Given the description of an element on the screen output the (x, y) to click on. 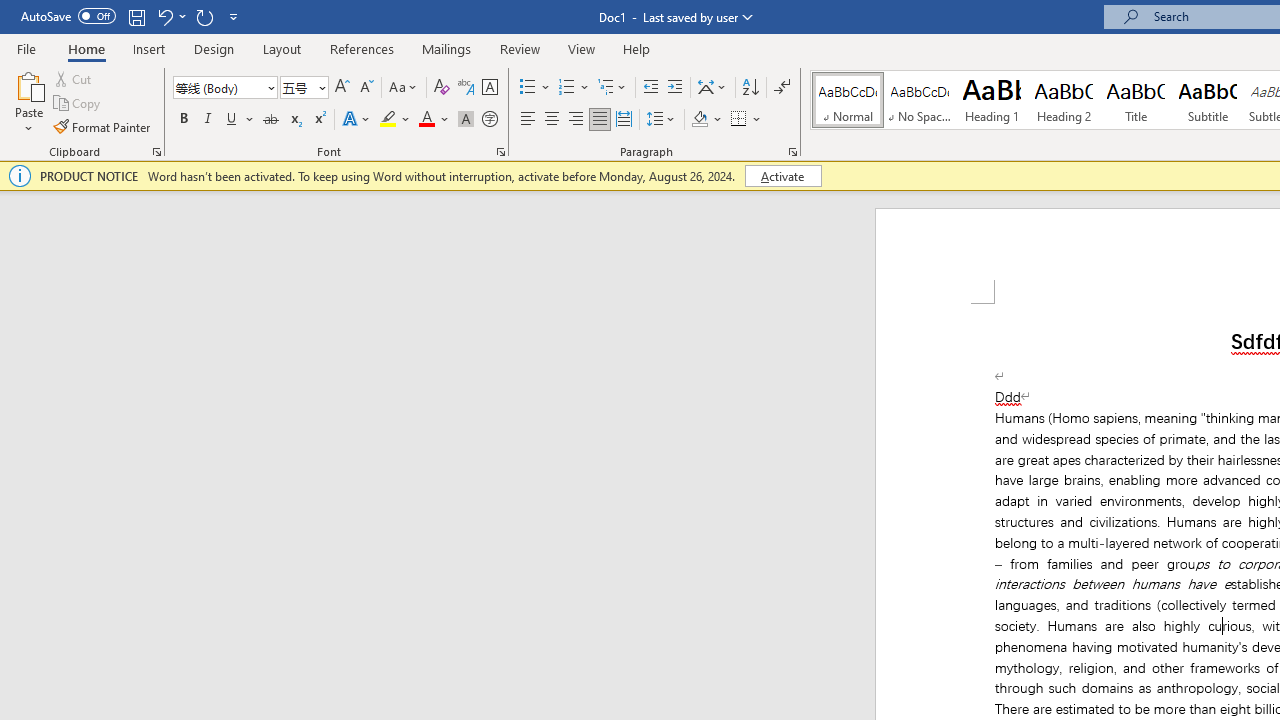
Undo Italic (164, 15)
